Given the description of an element on the screen output the (x, y) to click on. 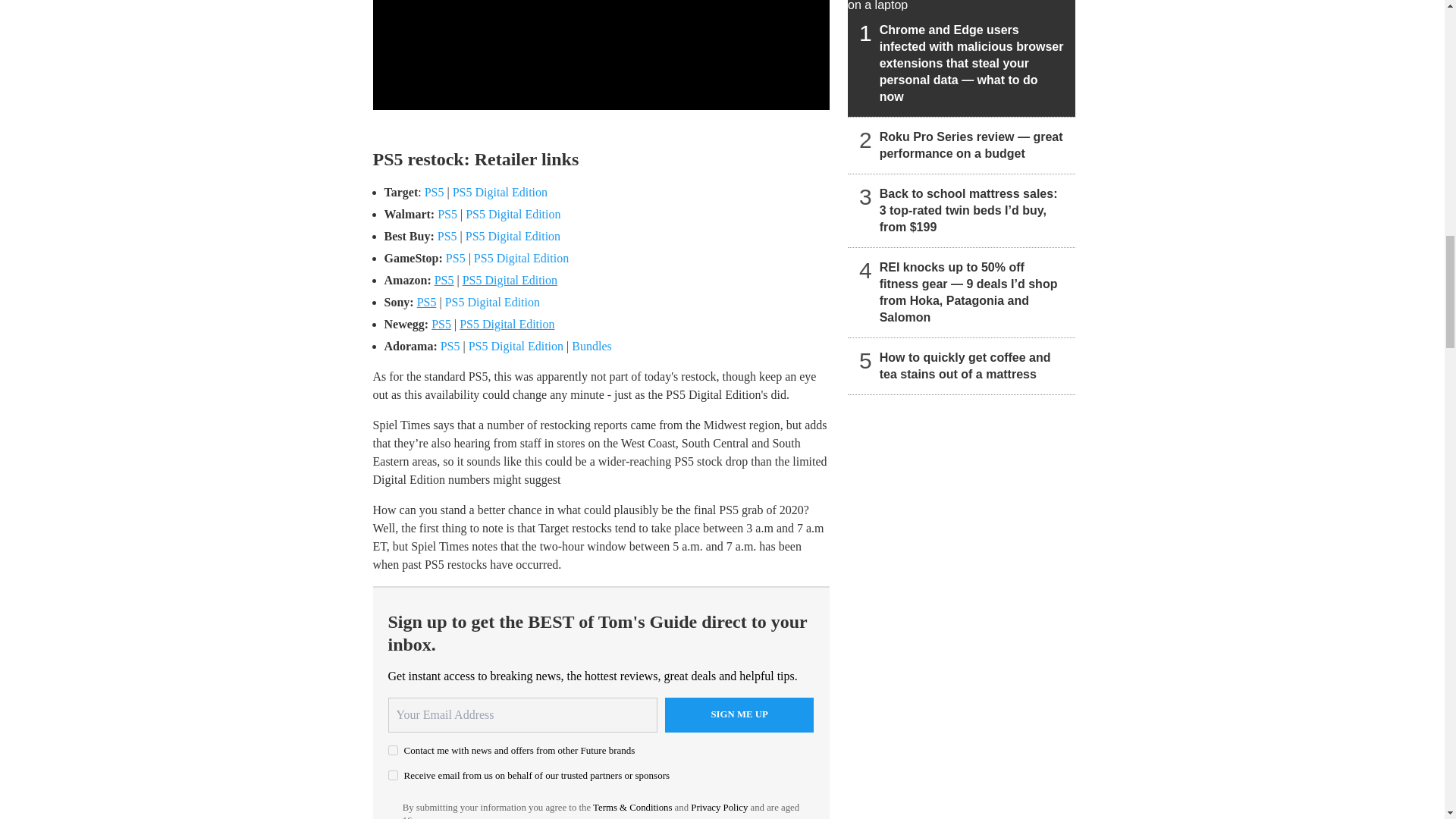
on (392, 750)
Sign me up (739, 714)
on (392, 775)
